Given the description of an element on the screen output the (x, y) to click on. 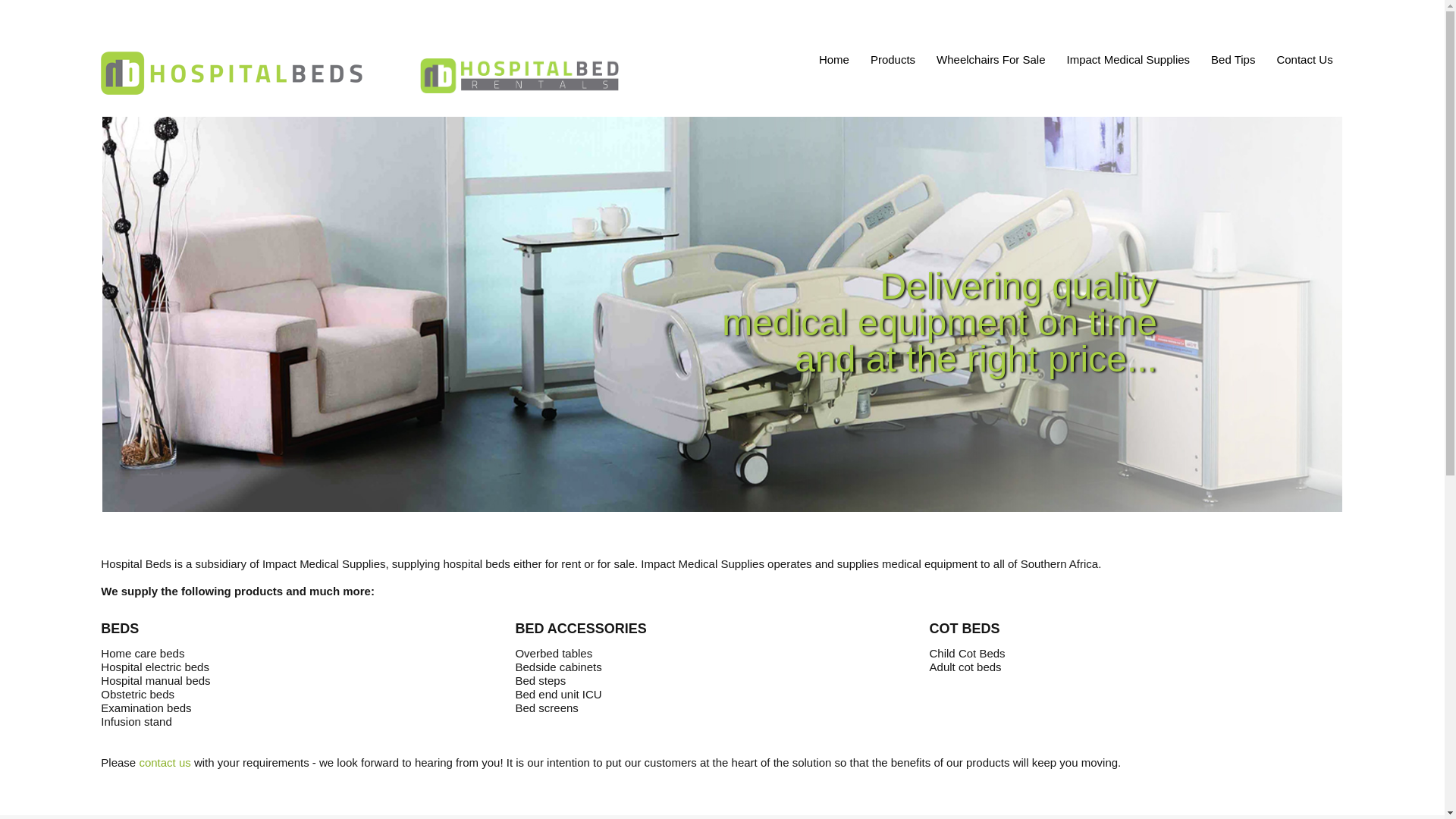
Contact Us (1304, 63)
Impact Medical Supplies (1127, 63)
Bed Tips (1233, 63)
Products (892, 63)
contact us (164, 762)
Home (833, 63)
Wheelchairs For Sale (990, 63)
